Given the description of an element on the screen output the (x, y) to click on. 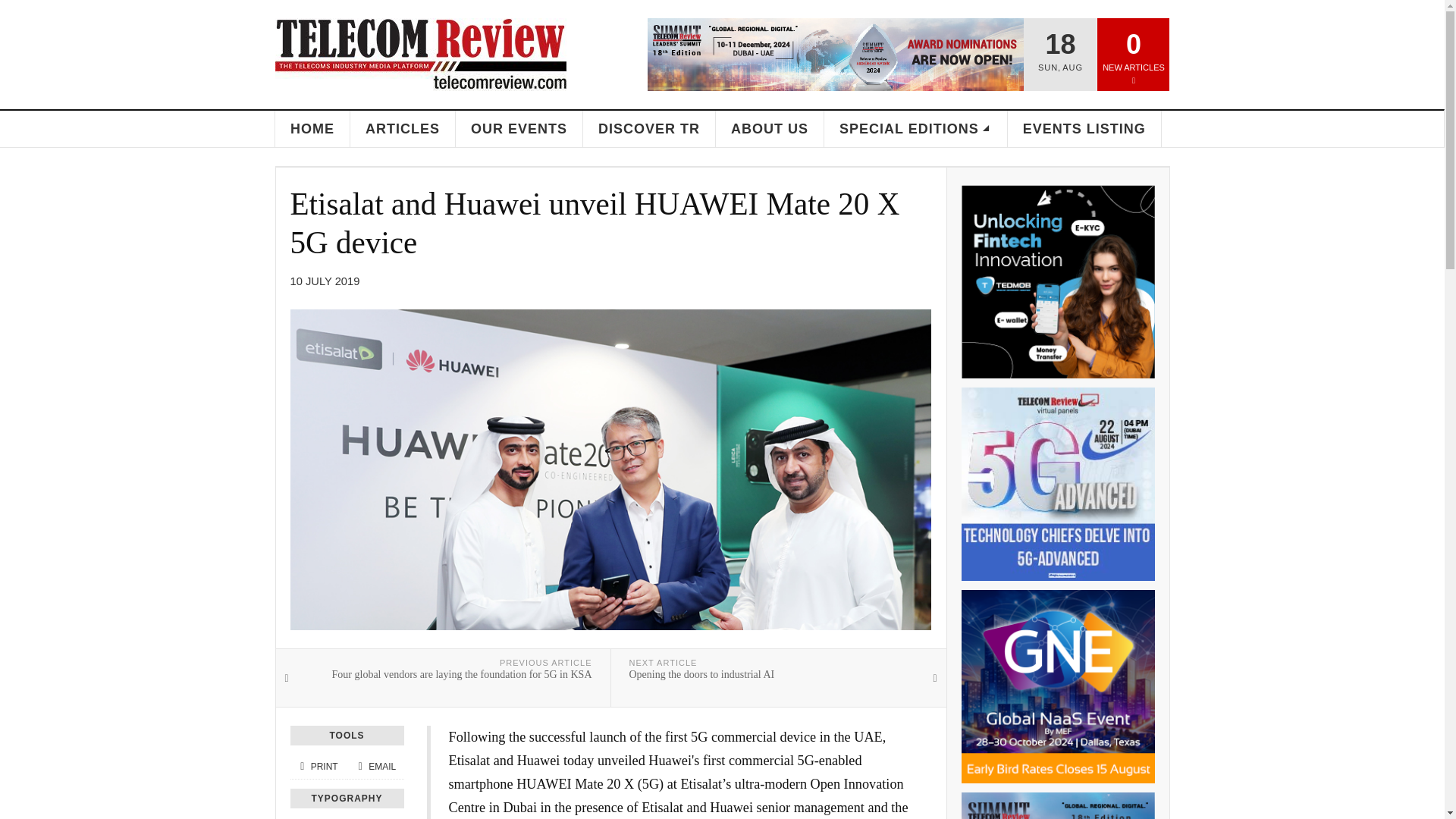
HOME (312, 128)
Email (375, 766)
Print (318, 766)
2024 08 Tedmob WB (1057, 281)
2024 08 GNE WB (1057, 685)
2024 08 5G-Advanced WB (1057, 483)
Etisalat and Huawei unveil HUAWEI Mate 20 X 5G device  (594, 223)
2024 03 TRS WB (1057, 805)
Published:  (324, 281)
Telecom Review (420, 54)
